Given the description of an element on the screen output the (x, y) to click on. 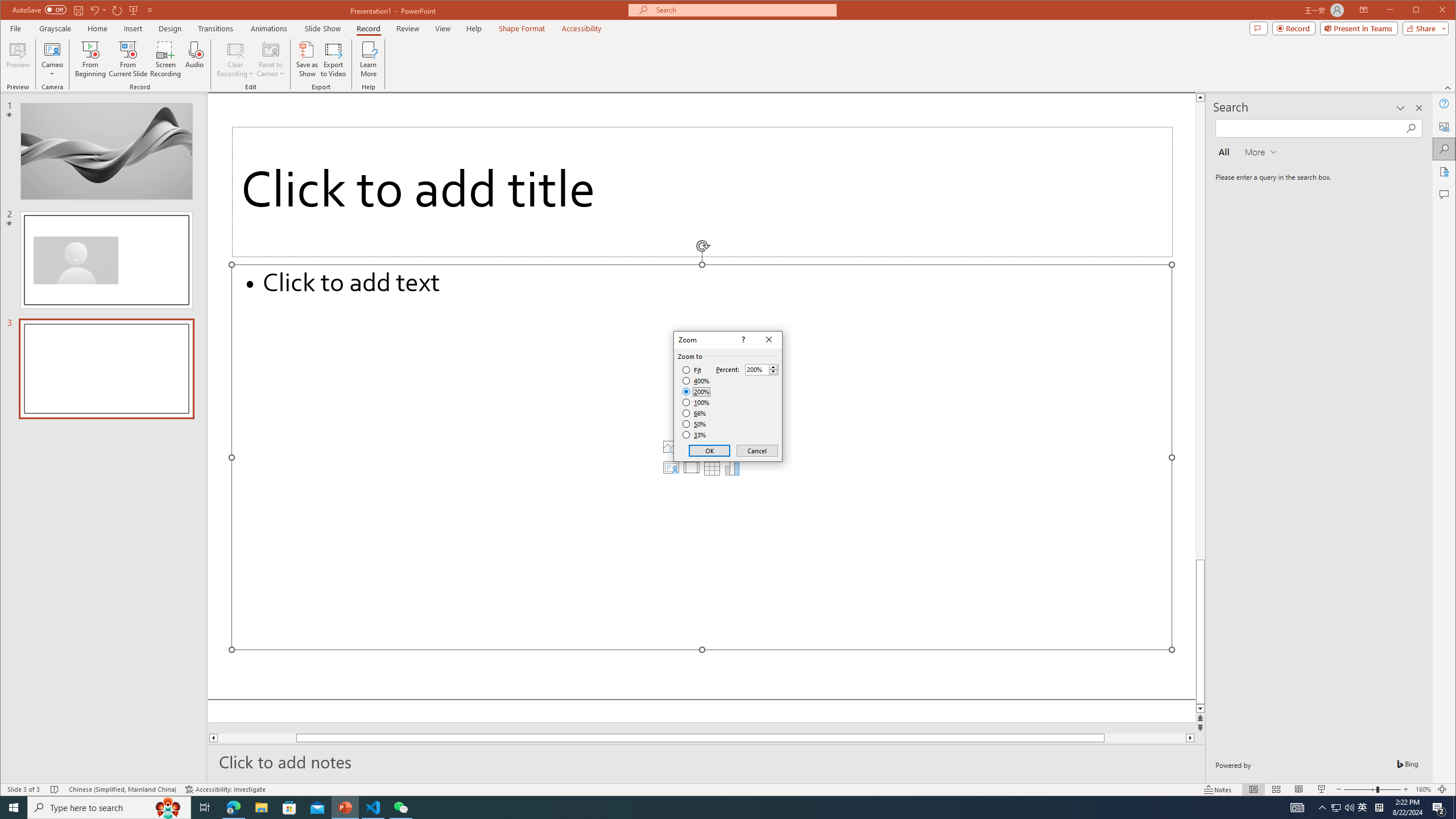
Fit (691, 370)
400% (696, 380)
Zoom 160% (1422, 789)
